Given the description of an element on the screen output the (x, y) to click on. 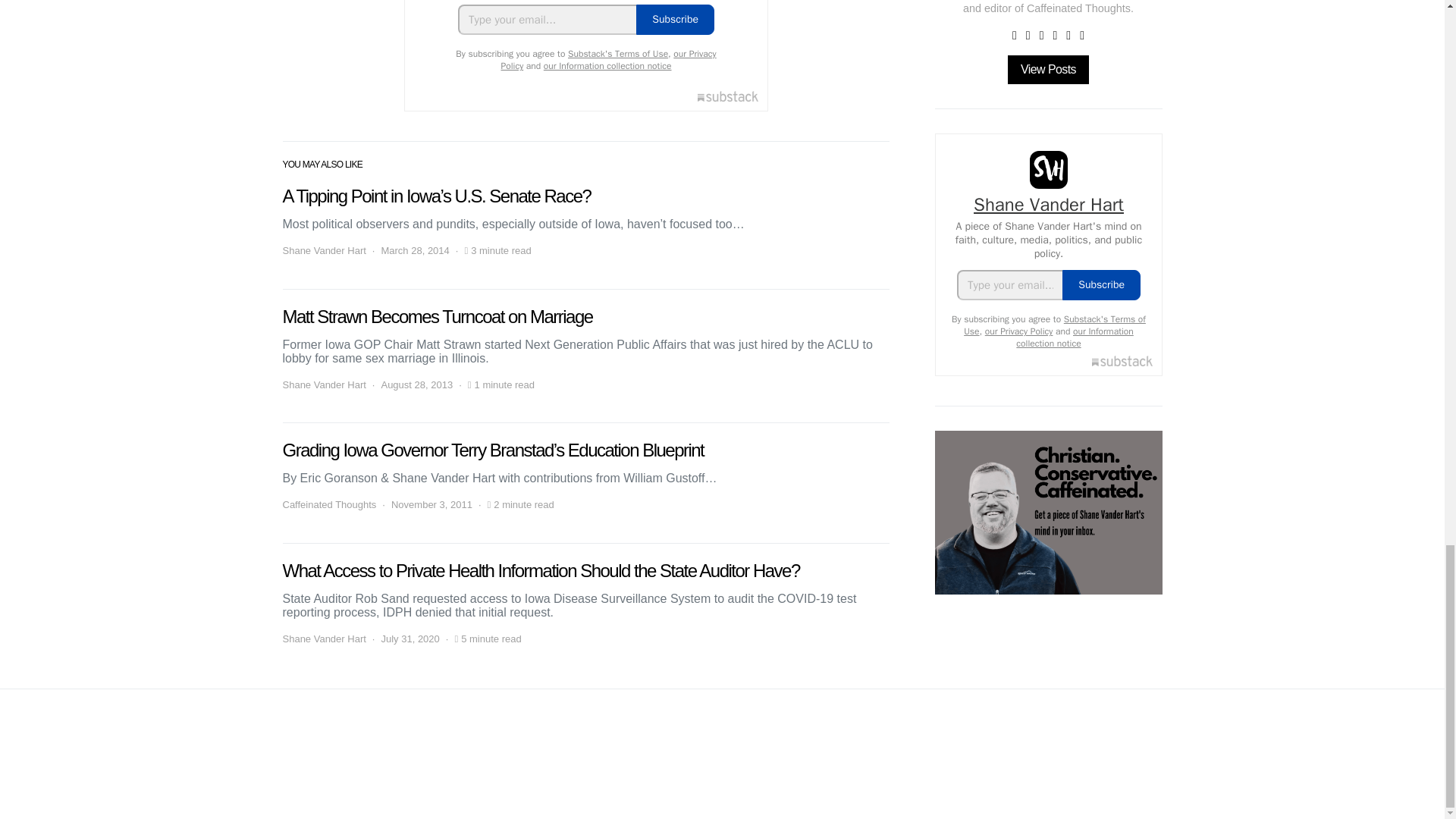
View all posts by Shane Vander Hart (323, 250)
View all posts by Shane Vander Hart (323, 385)
View all posts by Shane Vander Hart (323, 638)
View all posts by Caffeinated Thoughts (328, 504)
